Given the description of an element on the screen output the (x, y) to click on. 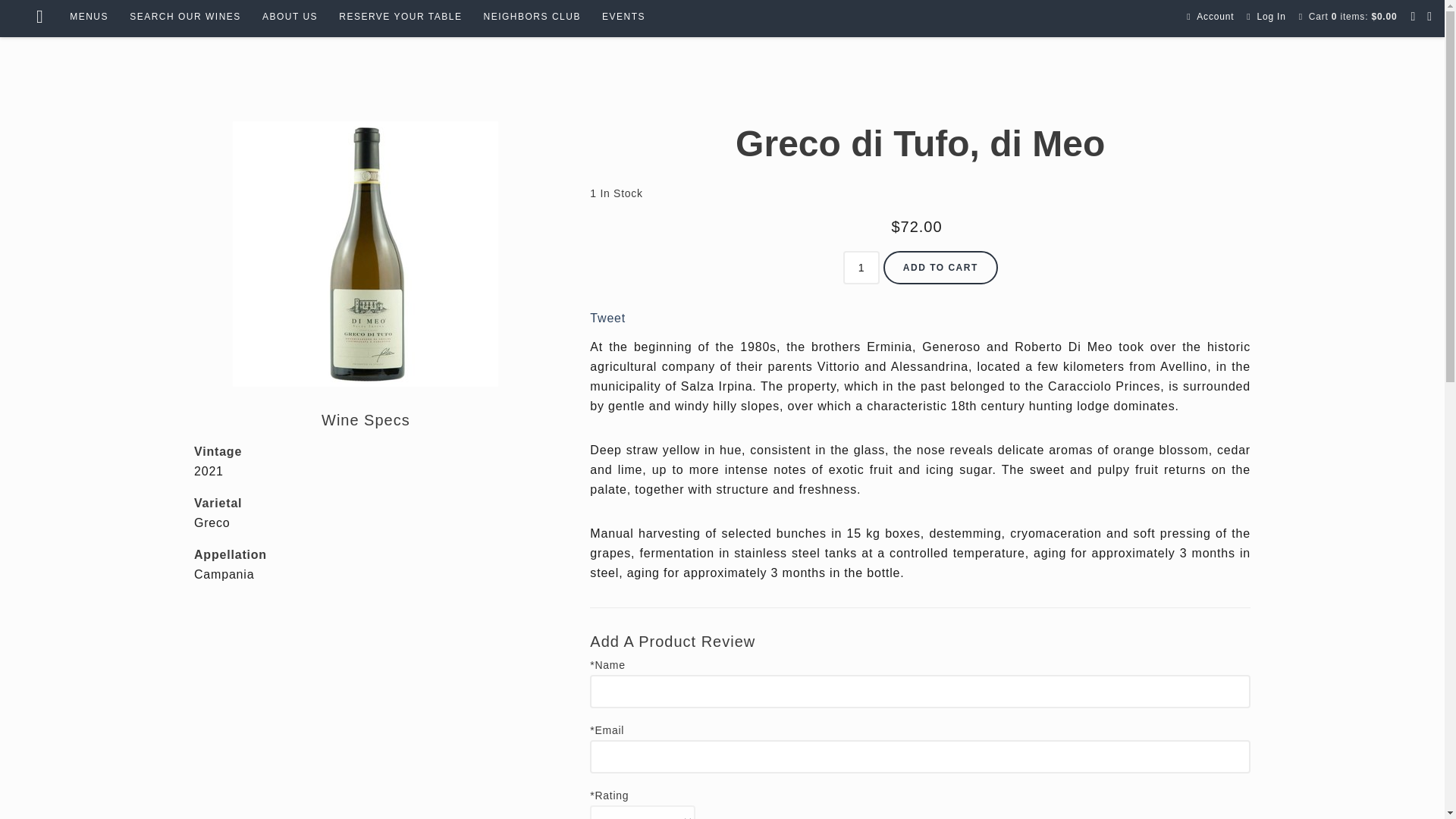
ABOUT US (289, 16)
Tweet (607, 318)
SEARCH OUR WINES (185, 16)
ADD TO CART (940, 267)
Account (1214, 16)
1 (861, 267)
RESERVE YOUR TABLE (400, 16)
MENUS (89, 16)
NEIGHBORS CLUB (531, 16)
EVENTS (622, 16)
